Given the description of an element on the screen output the (x, y) to click on. 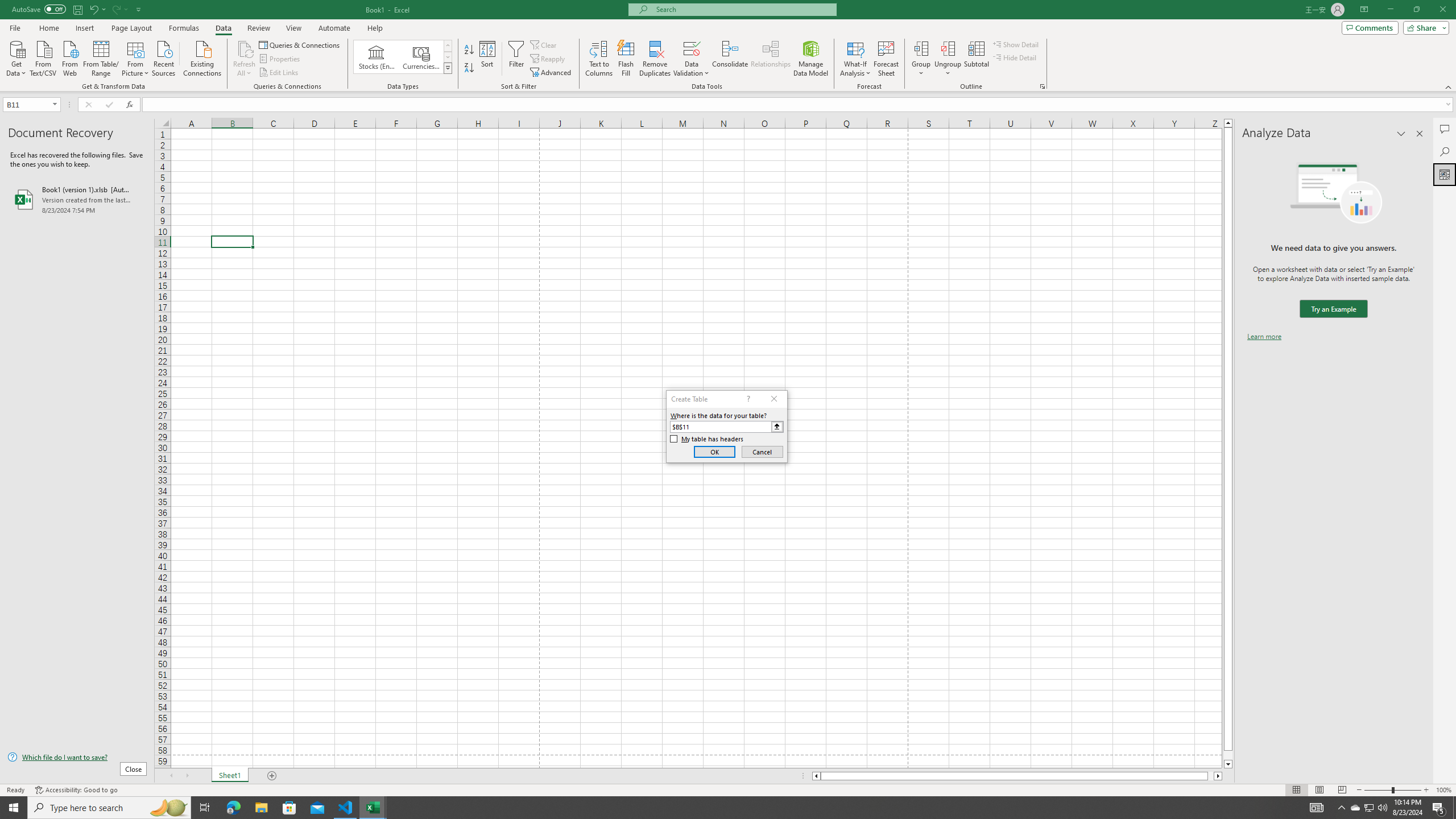
From Table/Range (100, 57)
Recent Sources (163, 57)
Advanced... (551, 72)
Subtotal (976, 58)
Reapply (548, 58)
